Given the description of an element on the screen output the (x, y) to click on. 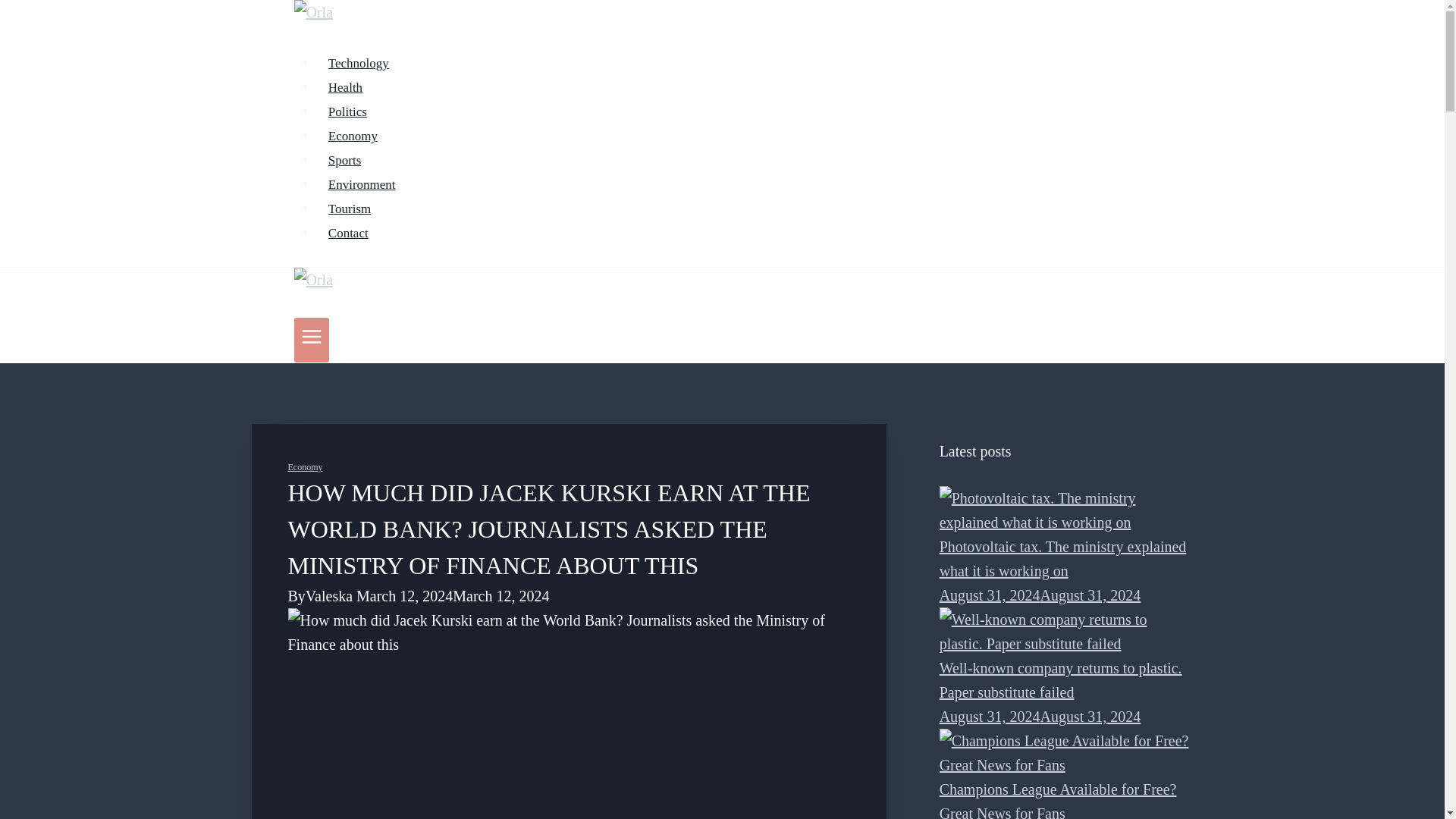
Champions League Available for Free? Great News for Fans (1066, 752)
Economy (353, 135)
August 31, 2024August 31, 2024 (1040, 595)
7:26 pm (1040, 595)
Tourism (349, 208)
Environment (362, 184)
Sports (344, 160)
Contact (348, 233)
